Given the description of an element on the screen output the (x, y) to click on. 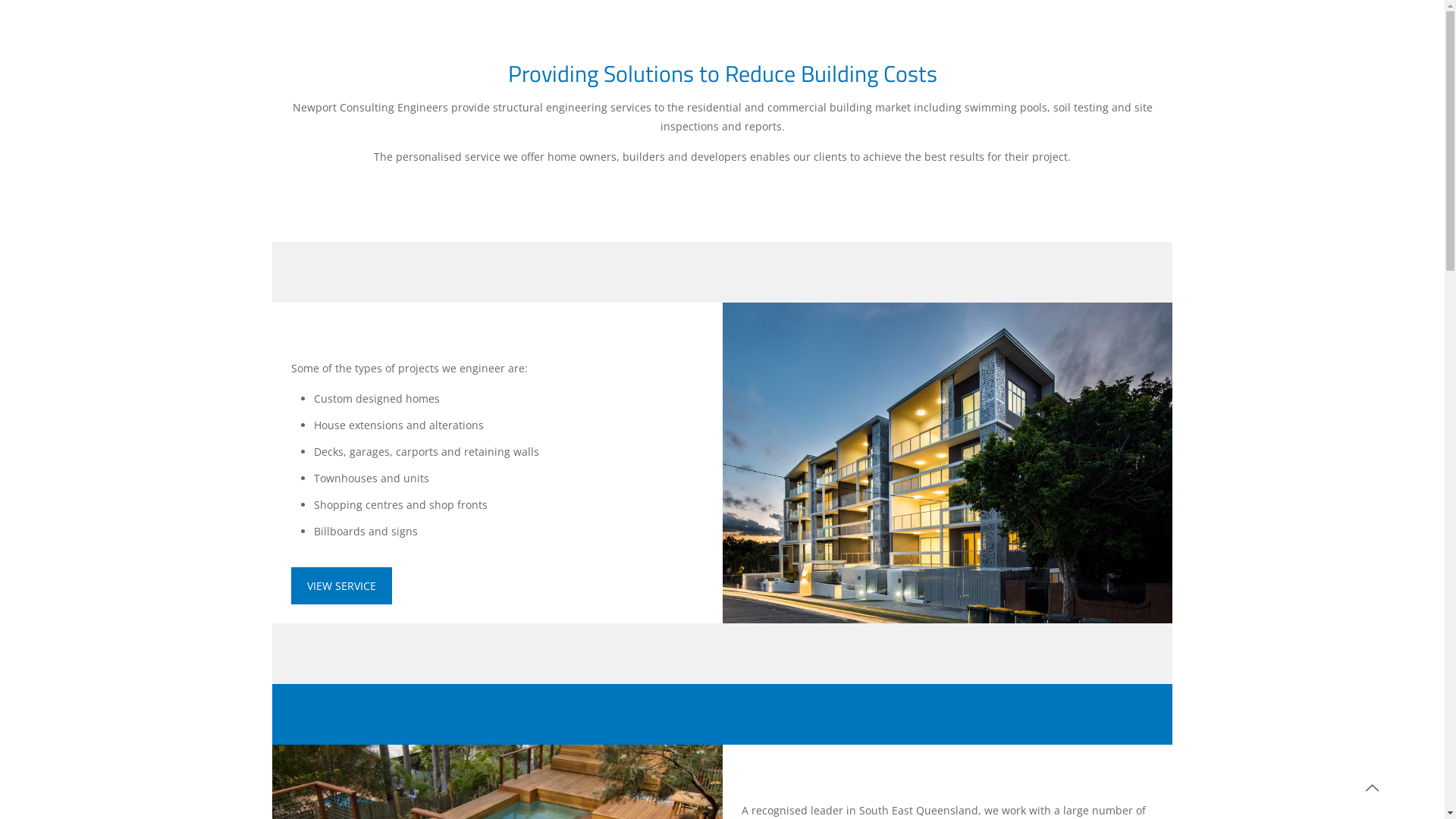
VIEW SERVICE Element type: text (341, 585)
